Given the description of an element on the screen output the (x, y) to click on. 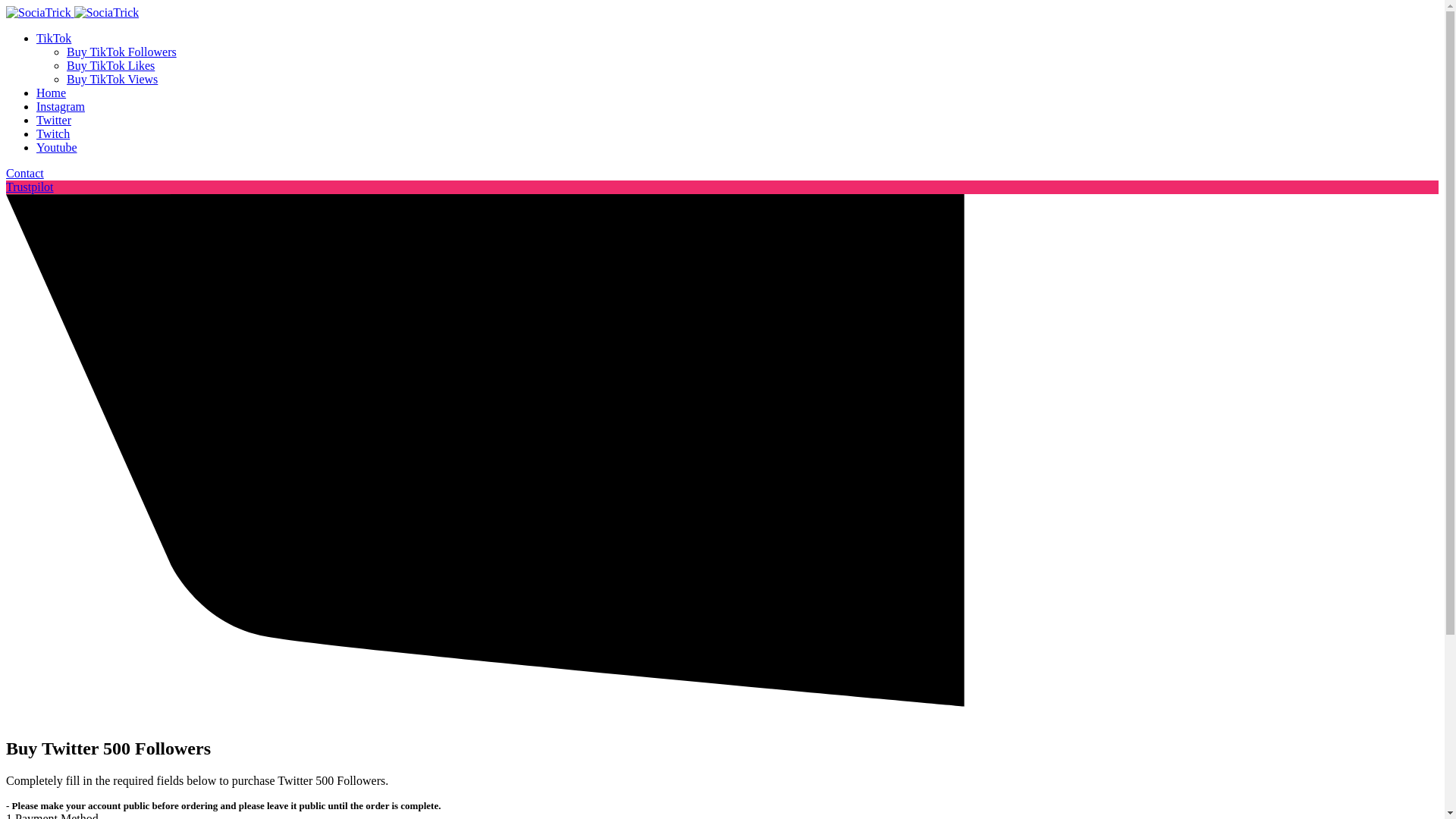
Twitch (52, 133)
Trustpilot (29, 186)
SociaTrick (106, 12)
Twitter (53, 119)
SociaTrick (38, 12)
TikTok (53, 38)
Buy TikTok Followers (121, 51)
Buy TikTok Likes (110, 65)
Buy TikTok Views (111, 78)
Home (50, 92)
